Given the description of an element on the screen output the (x, y) to click on. 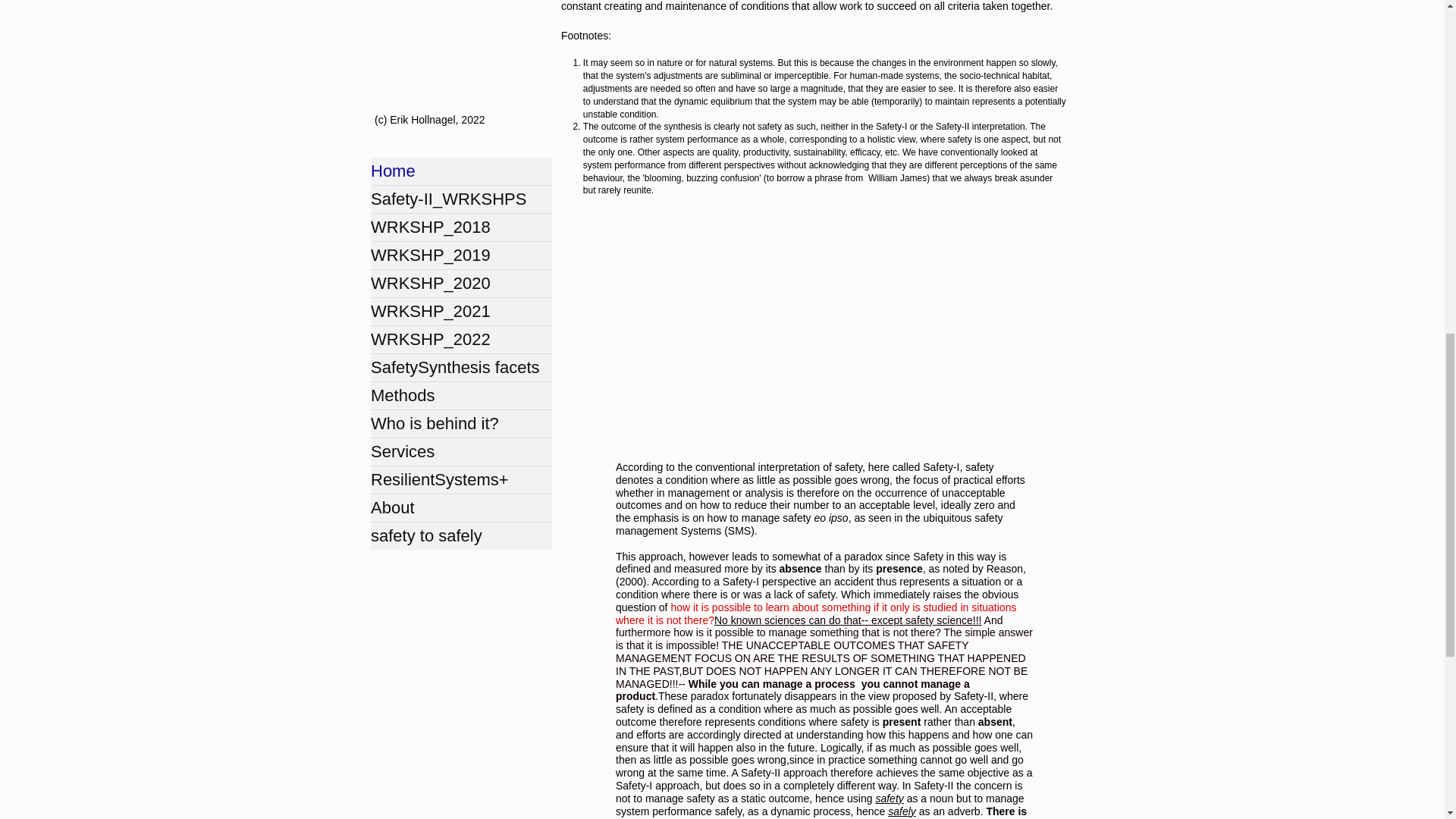
Home (461, 171)
